Given the description of an element on the screen output the (x, y) to click on. 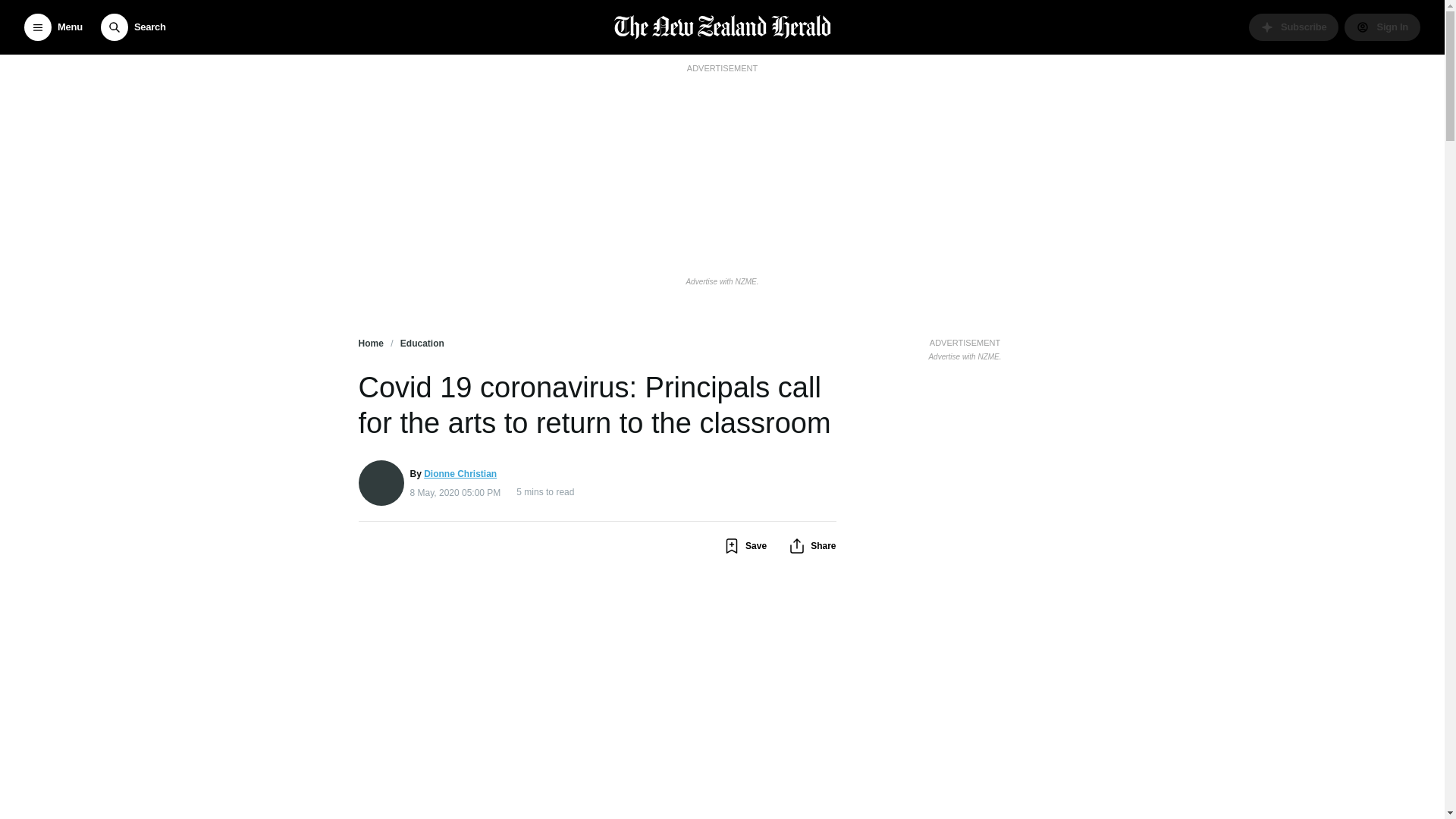
Subscribe (1294, 26)
Menu (53, 26)
Manage your account (1382, 26)
Search (132, 26)
Sign In (1382, 26)
